Given the description of an element on the screen output the (x, y) to click on. 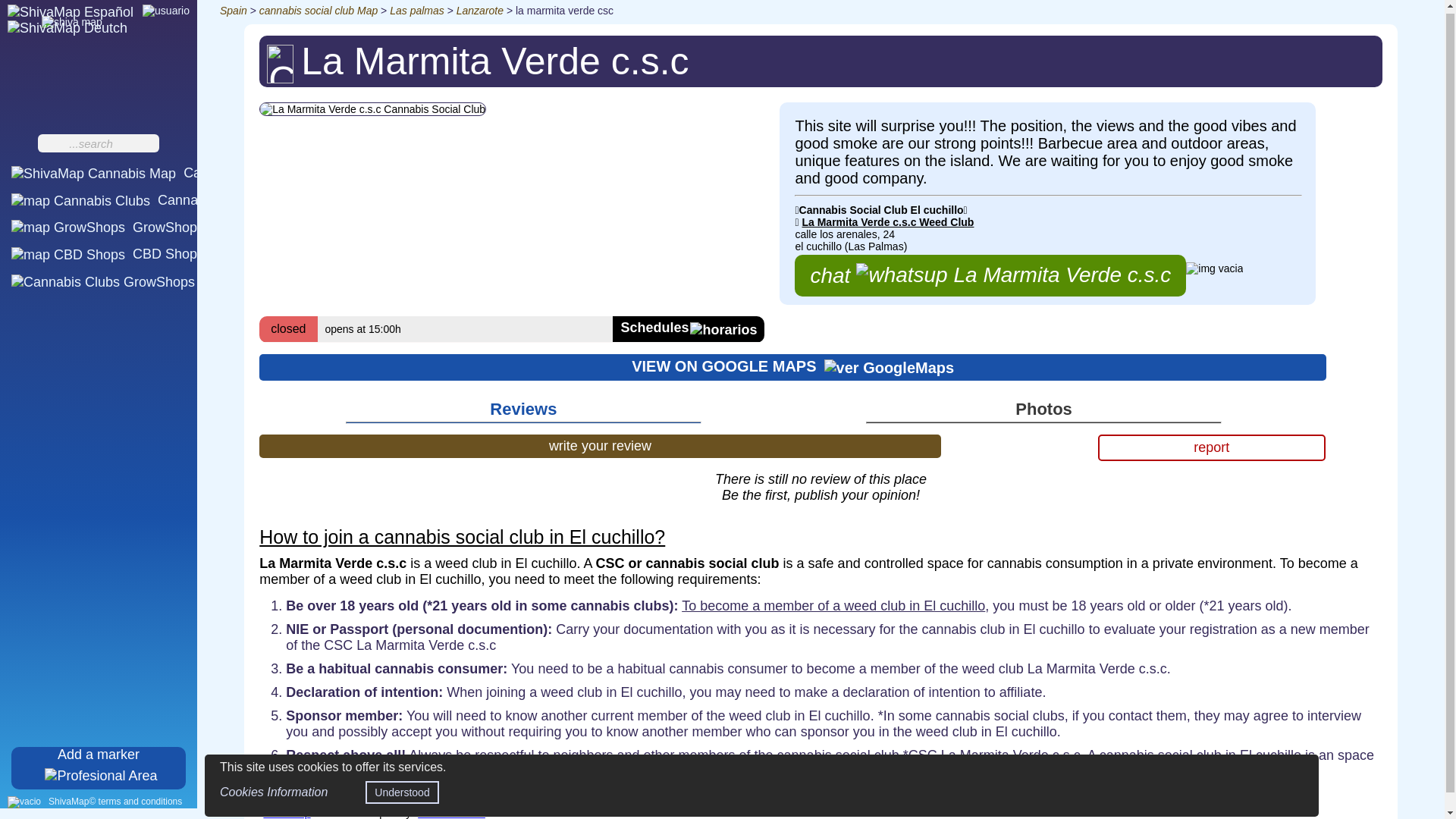
chat (990, 275)
search (148, 143)
Cannabis Social Club Lanzarote (480, 10)
cannabis social club Map (318, 10)
Deutch ShivaMap (67, 28)
Add a marker (98, 767)
terms and conditions (115, 801)
map GrowShops (107, 227)
map CBD Shops (107, 253)
Cannabis Map (140, 172)
CBD Shops (107, 253)
Profesional Area (98, 767)
map Cannabis Clubs (132, 200)
List Markers (194, 281)
